Given the description of an element on the screen output the (x, y) to click on. 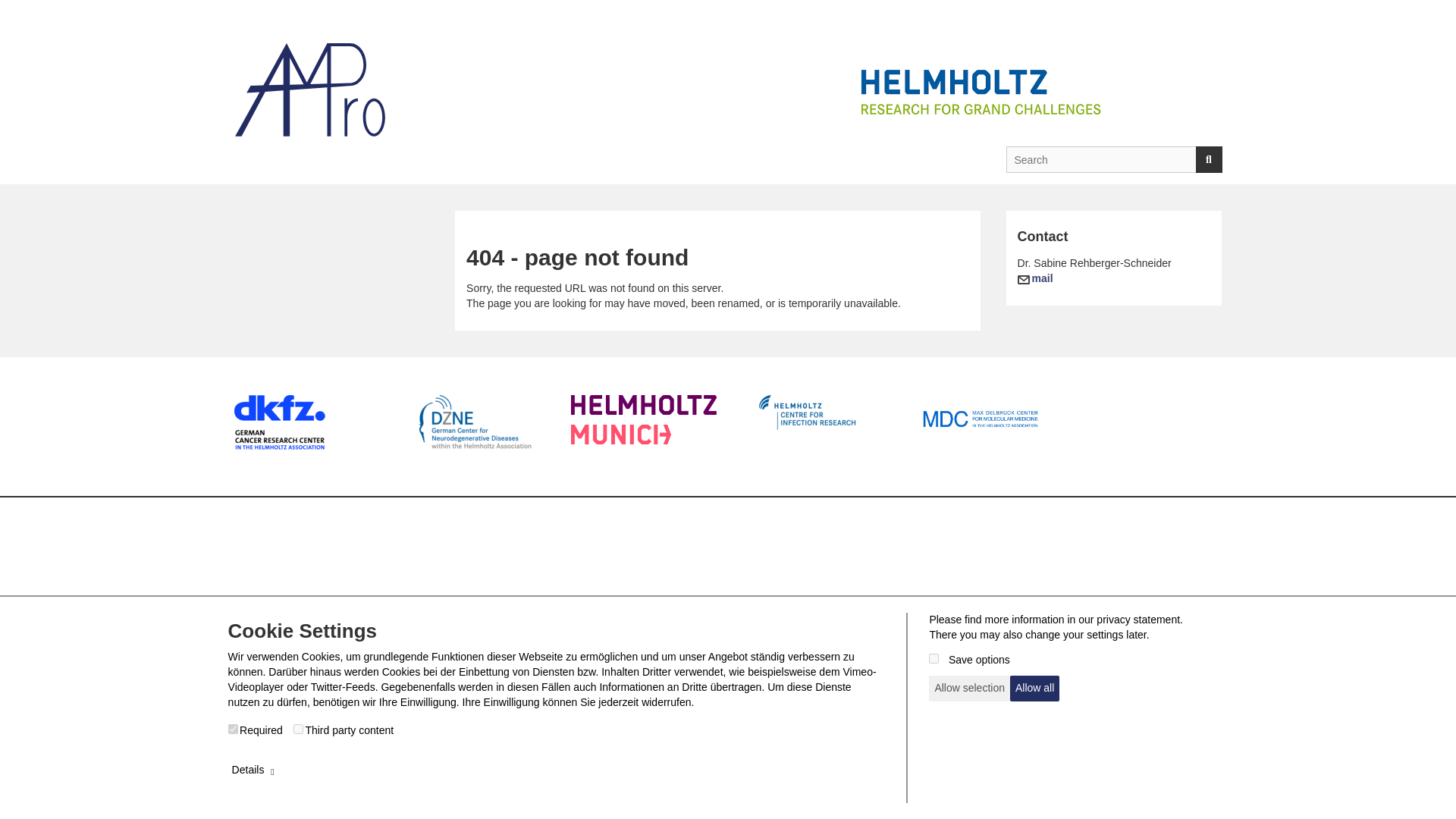
By clicking this link you leave this webiste (475, 421)
Opens window for sending email (1034, 277)
By clicking this link you leave this webiste (979, 418)
By clicking this link you leave this webiste (278, 421)
mail (1034, 277)
By clicking this link you leave this webiste (308, 88)
By clicking this link you leave this webiste (980, 91)
Aging and Metabolic Programming (308, 89)
By clicking this link you leave this webiste (811, 411)
